Given the description of an element on the screen output the (x, y) to click on. 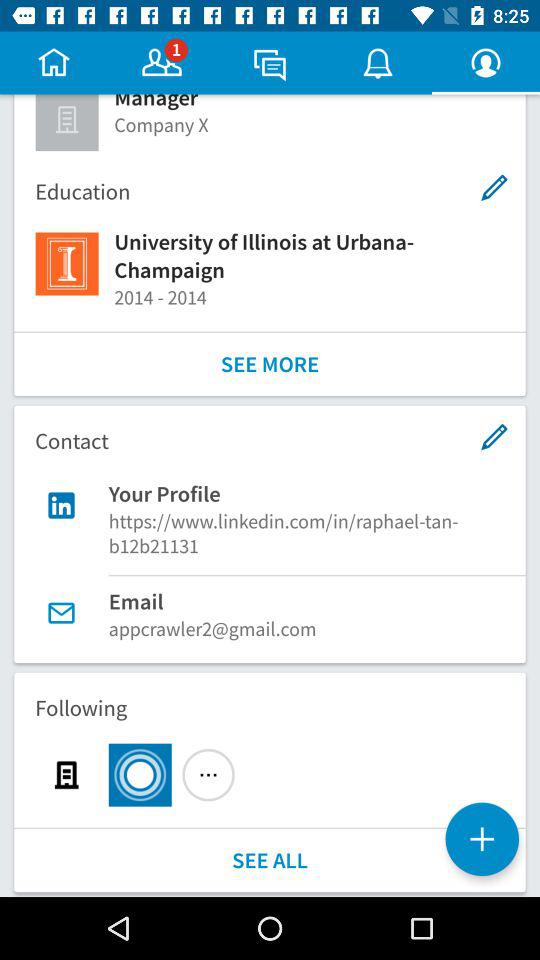
turn on the see more icon (269, 364)
